Given the description of an element on the screen output the (x, y) to click on. 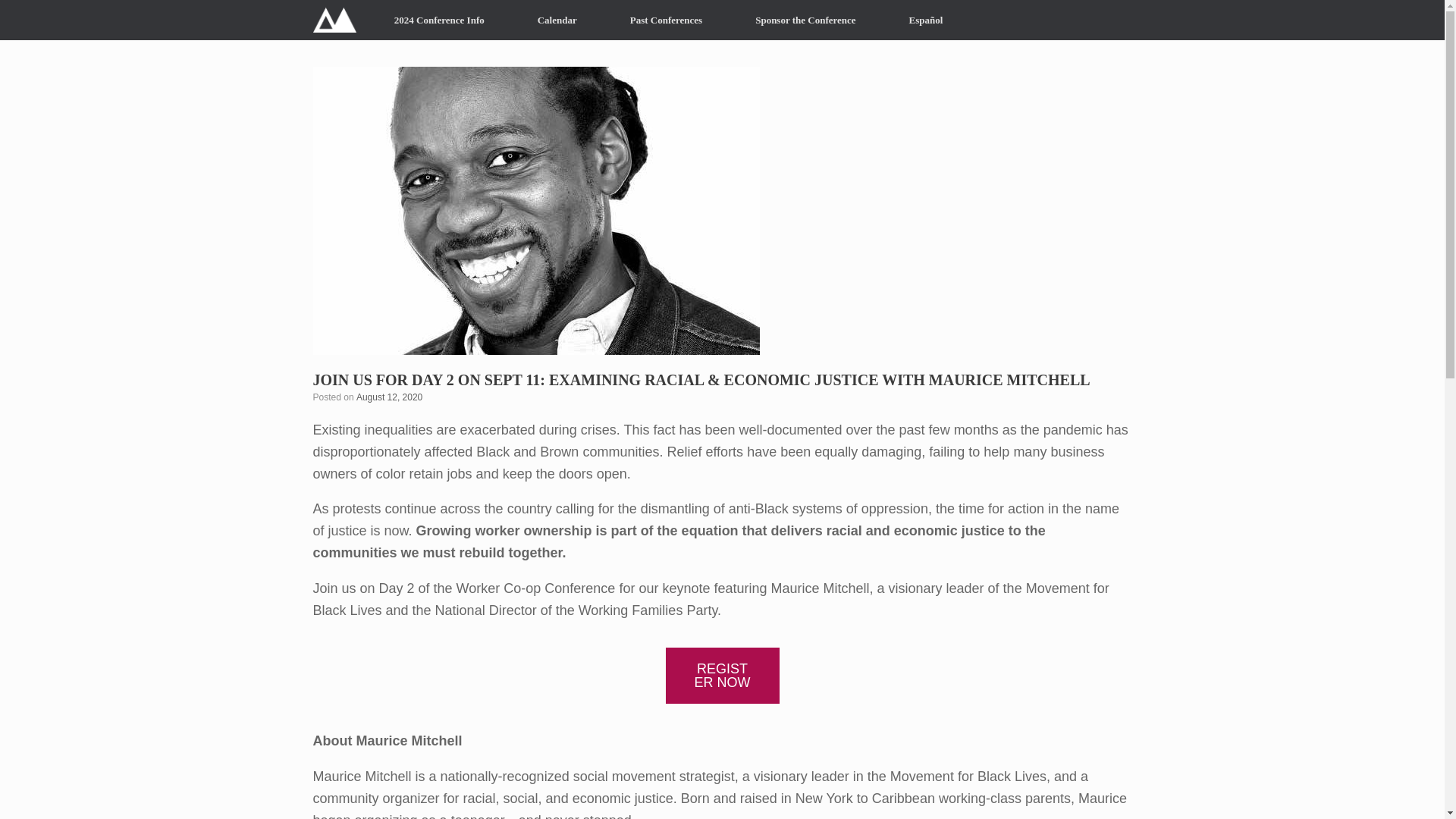
2024 Conference Info (439, 20)
6:16 pm (389, 397)
REGISTER NOW (721, 675)
Calendar (557, 20)
August 12, 2020 (389, 397)
Past Conferences (666, 20)
Sponsor the Conference (805, 20)
Worker Cooperative Events hosted by the USFWC (334, 20)
